Given the description of an element on the screen output the (x, y) to click on. 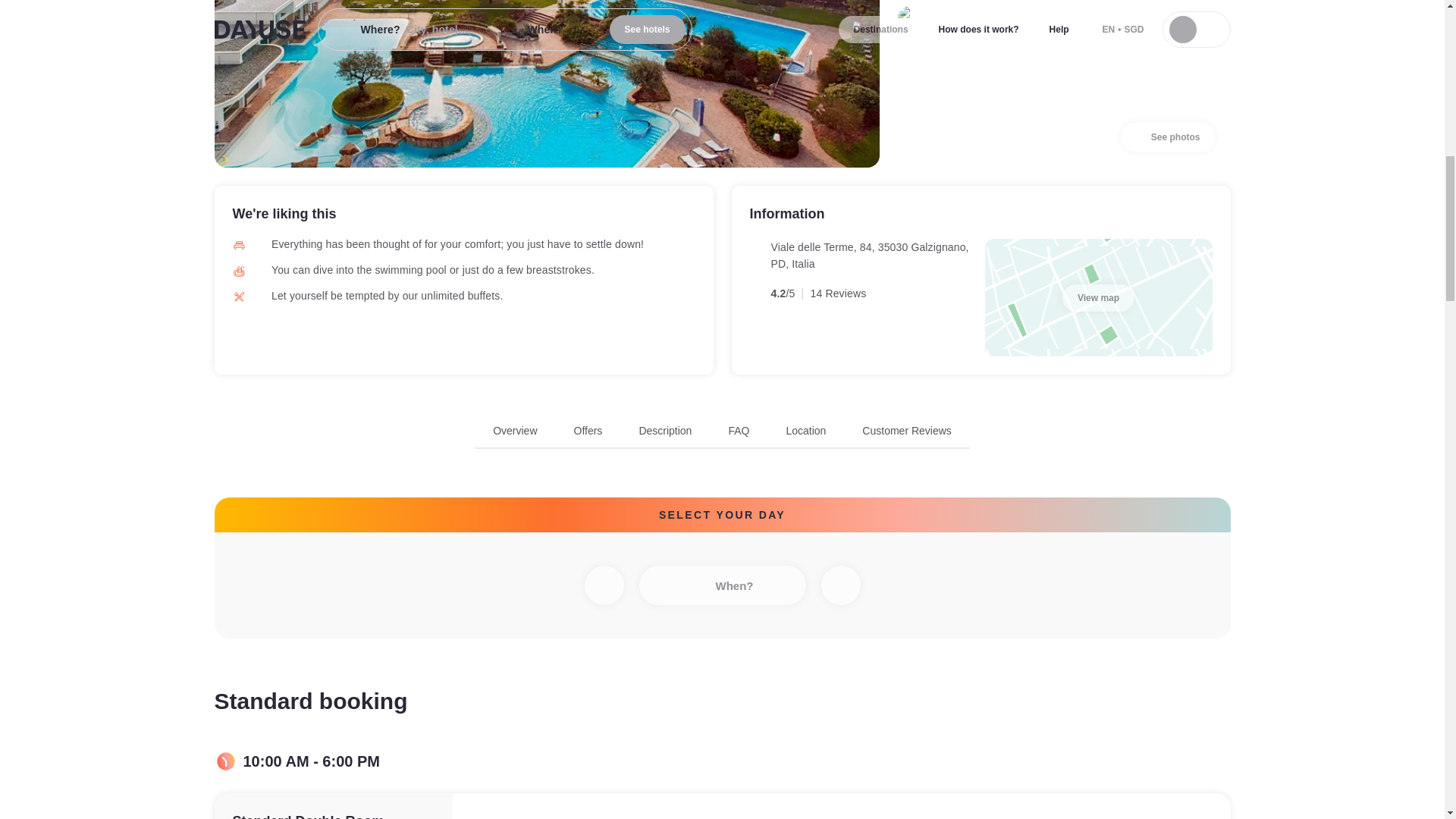
FAQ (738, 430)
When? (722, 585)
See photos (1168, 137)
Overview (515, 430)
Location (805, 430)
Offers (587, 430)
Description (665, 430)
Previous day (721, 435)
Customer Reviews (603, 585)
